Given the description of an element on the screen output the (x, y) to click on. 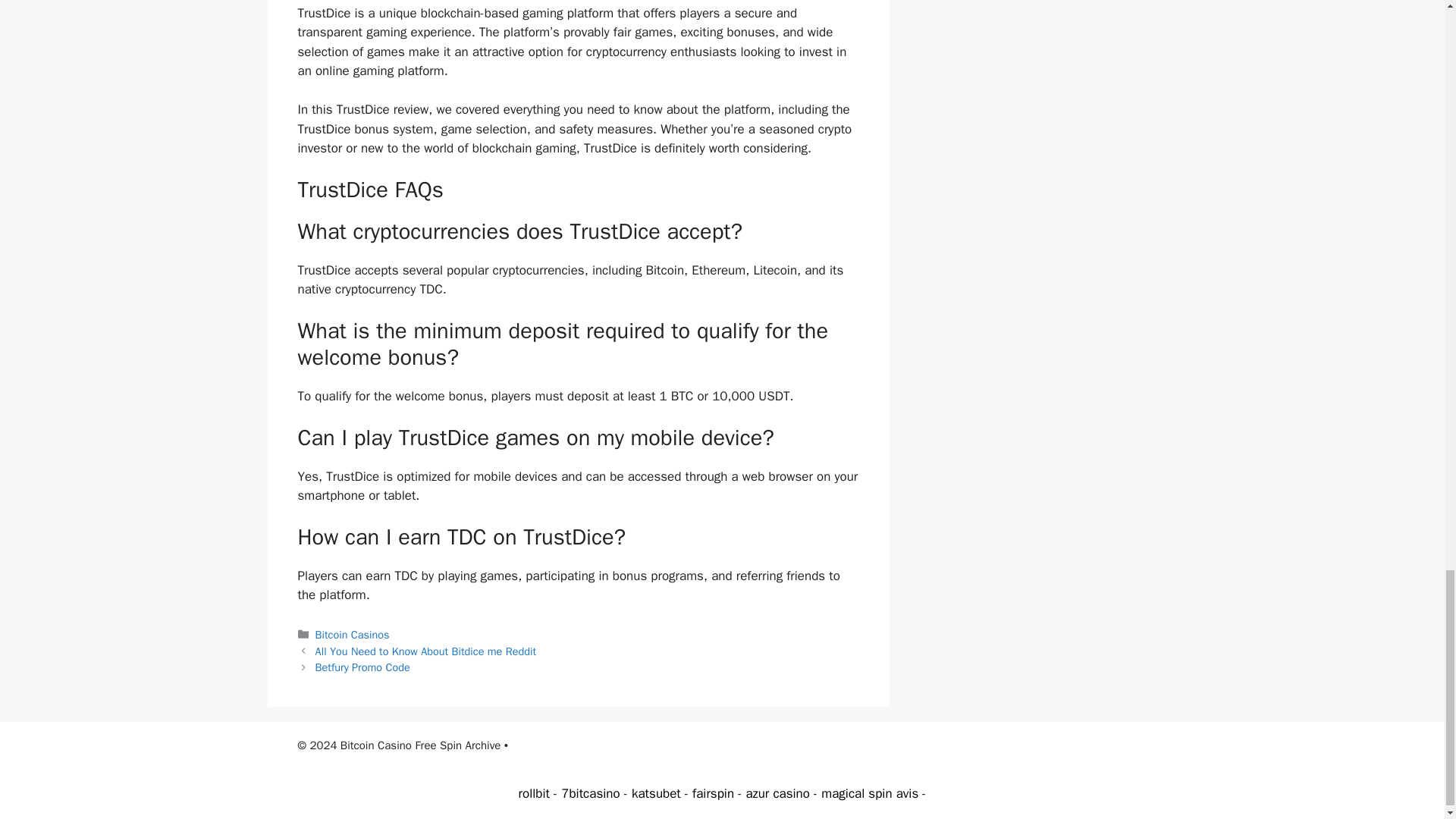
Bitcoin Casinos (352, 634)
All You Need to Know About Bitdice me Reddit (426, 651)
Previous (426, 651)
Betfury Promo Code (362, 667)
Next (362, 667)
